Given the description of an element on the screen output the (x, y) to click on. 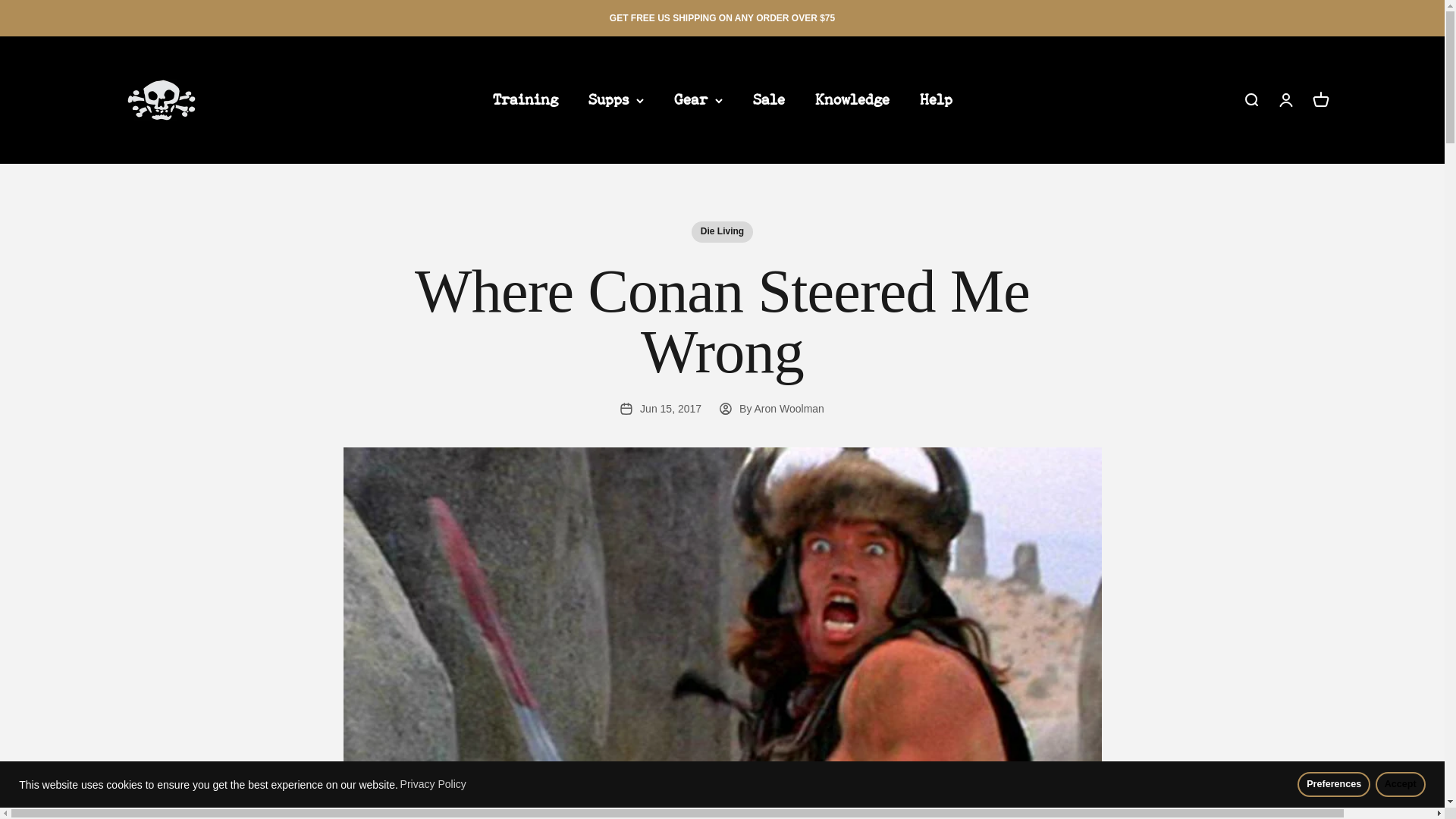
Open account page (1285, 99)
Die Living (721, 231)
Knowledge (850, 99)
SOFLETE (160, 99)
Help (935, 99)
Sale (768, 99)
Open search (1319, 99)
Training (1250, 99)
